Given the description of an element on the screen output the (x, y) to click on. 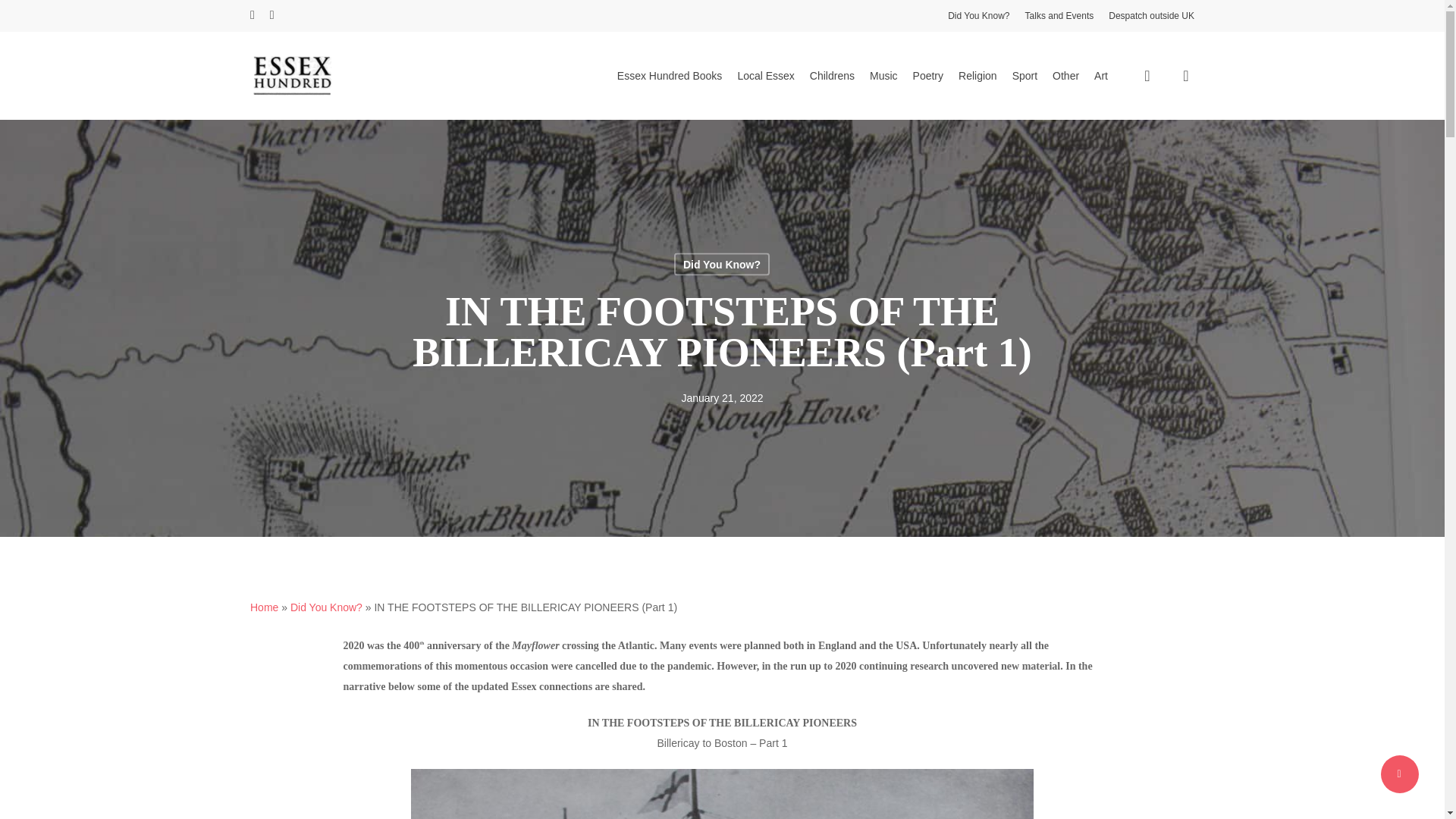
Did You Know? (325, 607)
Local Essex (764, 75)
Poetry (927, 75)
Sport (1023, 75)
Art (1101, 75)
Home (264, 607)
Did You Know? (978, 15)
Other (1065, 75)
Childrens (831, 75)
Essex Hundred Books (669, 75)
